Given the description of an element on the screen output the (x, y) to click on. 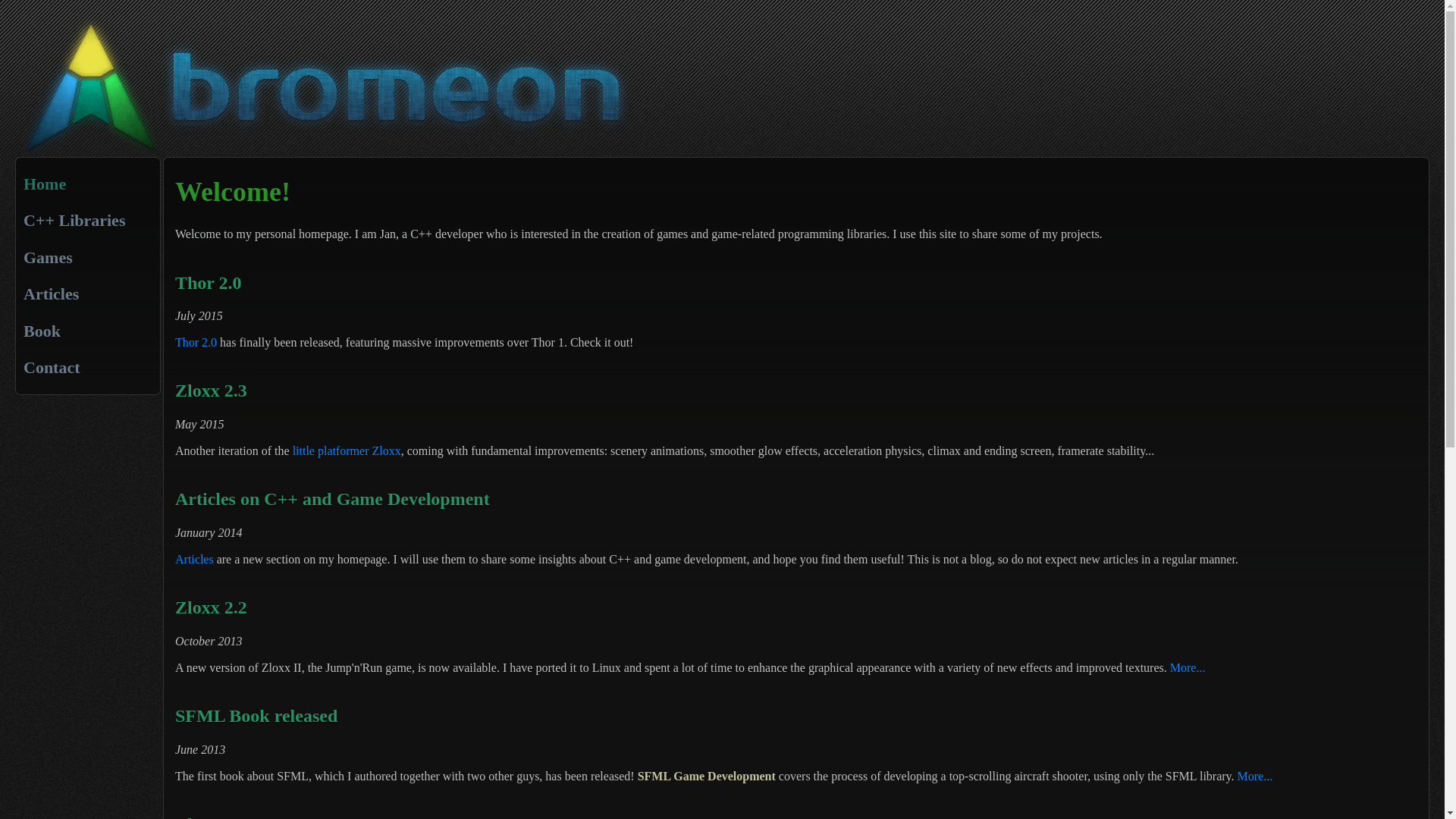
Articles Element type: text (50, 293)
Games Element type: text (47, 256)
More... Element type: text (1187, 667)
little platformer Zloxx Element type: text (346, 450)
Contact Element type: text (51, 366)
More... Element type: text (1255, 775)
Articles Element type: text (194, 558)
Home Element type: text (44, 183)
C++ Libraries Element type: text (74, 219)
Book Element type: text (41, 330)
Thor 2.0 Element type: text (195, 341)
